Given the description of an element on the screen output the (x, y) to click on. 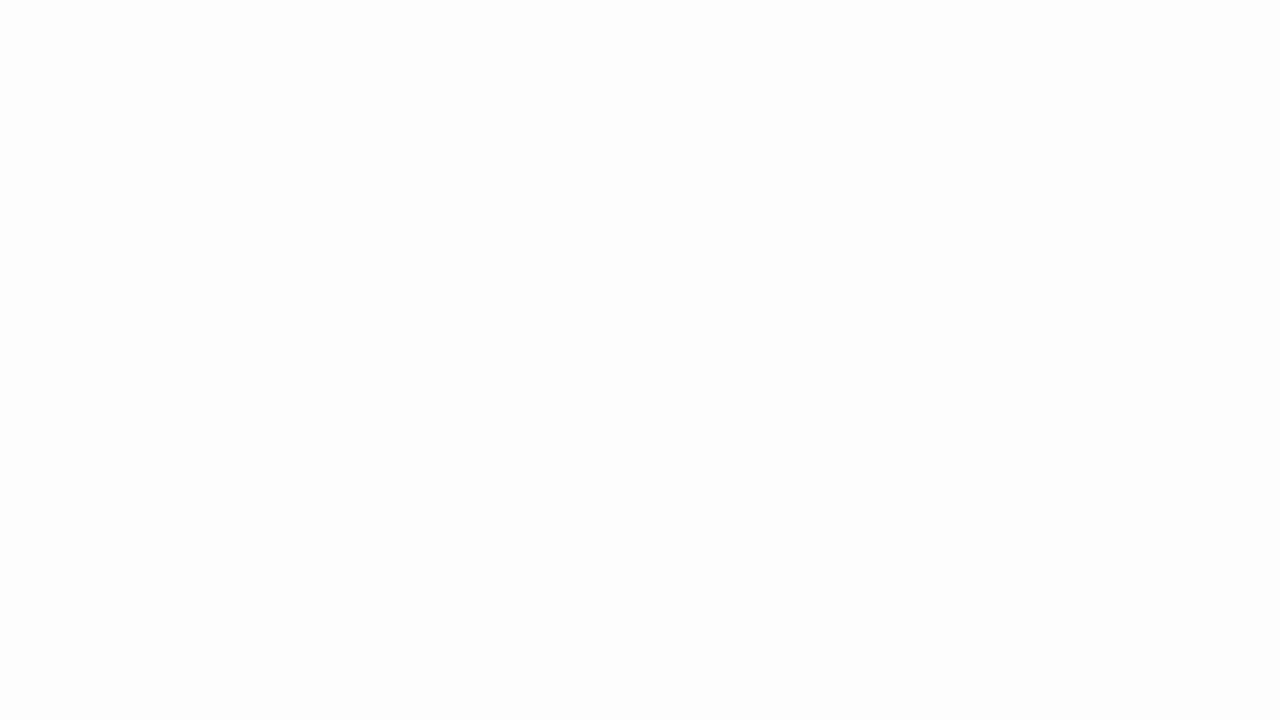
Delete Cells... (369, 84)
Note (218, 114)
Delete (369, 102)
Fill (477, 101)
Analyze Data (673, 102)
Row Down (280, 100)
Find & Select (610, 102)
Sum (489, 78)
Class: NetUIImage (280, 120)
